Given the description of an element on the screen output the (x, y) to click on. 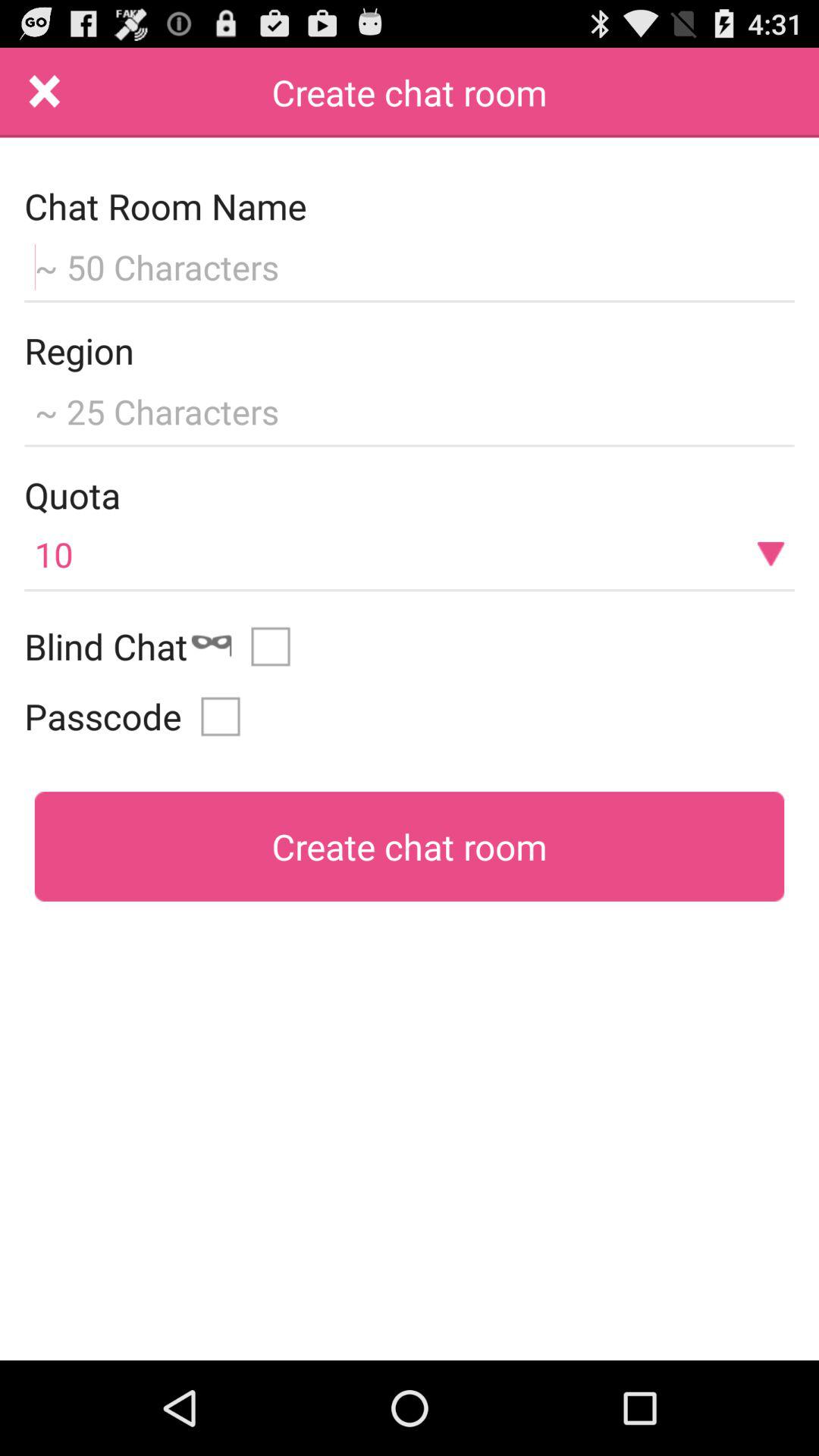
close application (44, 92)
